Given the description of an element on the screen output the (x, y) to click on. 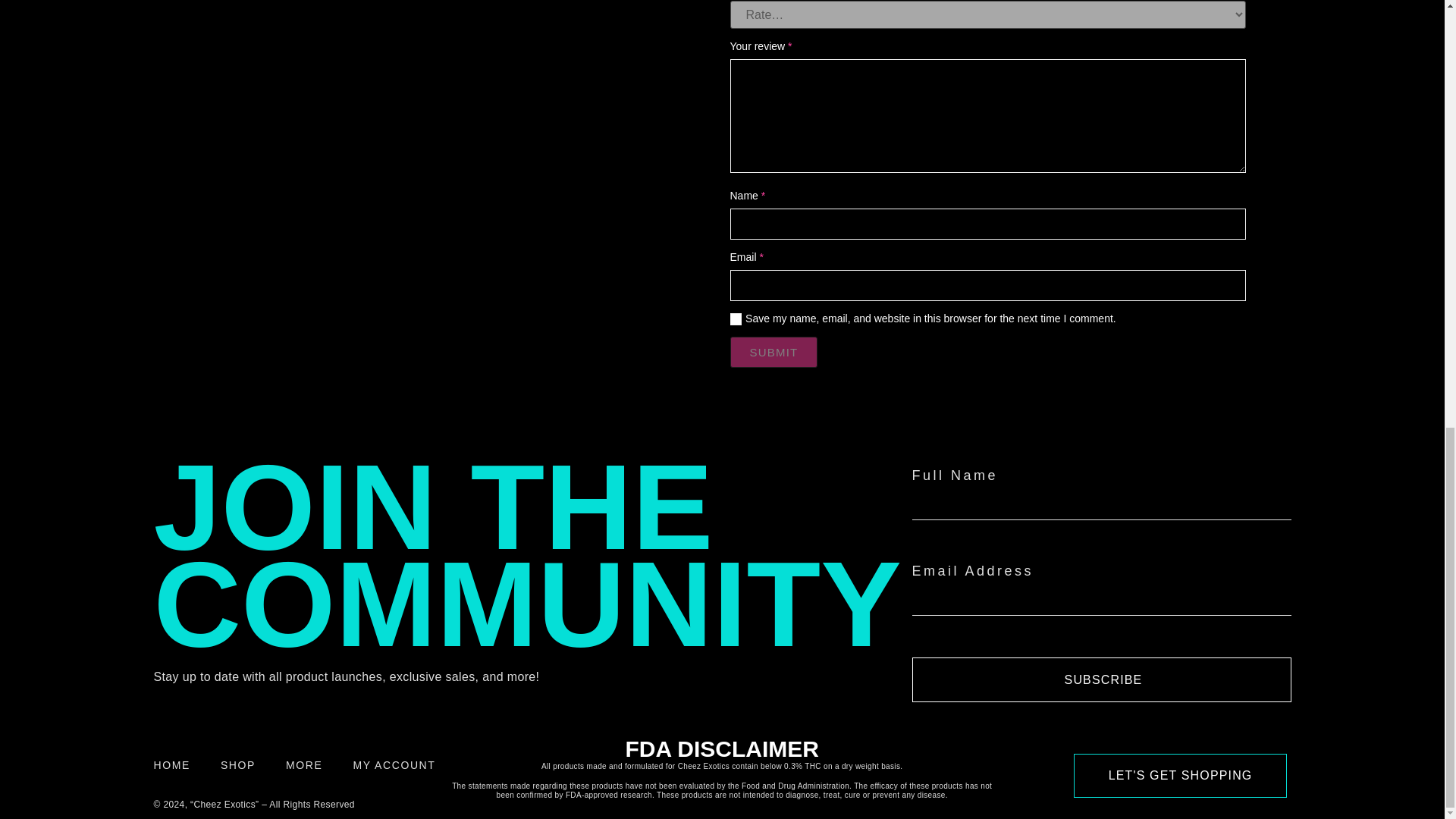
SUBSCRIBE (1100, 679)
MY ACCOUNT (393, 765)
yes (735, 318)
Submit (772, 351)
Submit (772, 351)
LET'S GET SHOPPING (1180, 775)
